Given the description of an element on the screen output the (x, y) to click on. 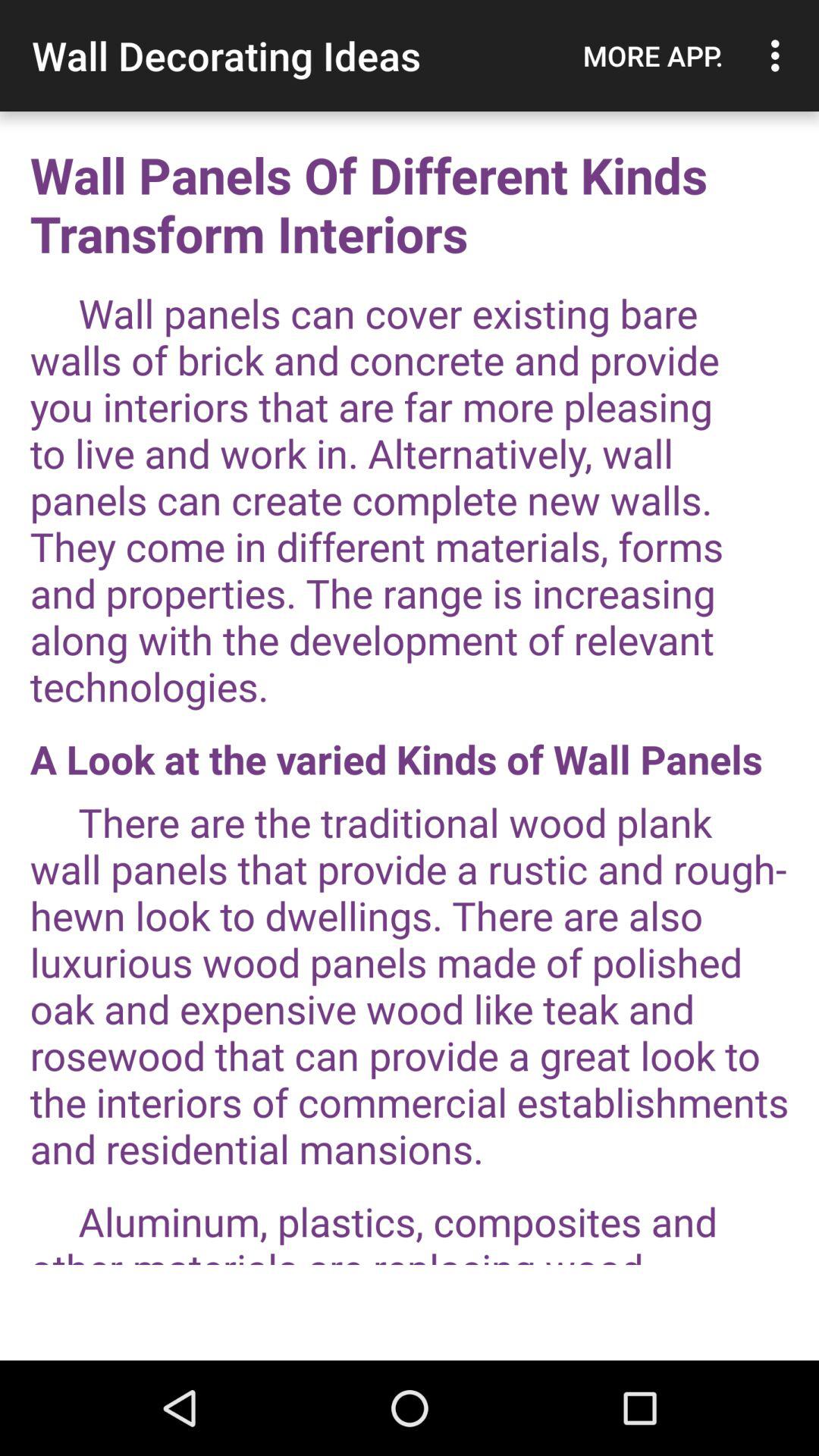
select the app above the wall panels of app (779, 55)
